Given the description of an element on the screen output the (x, y) to click on. 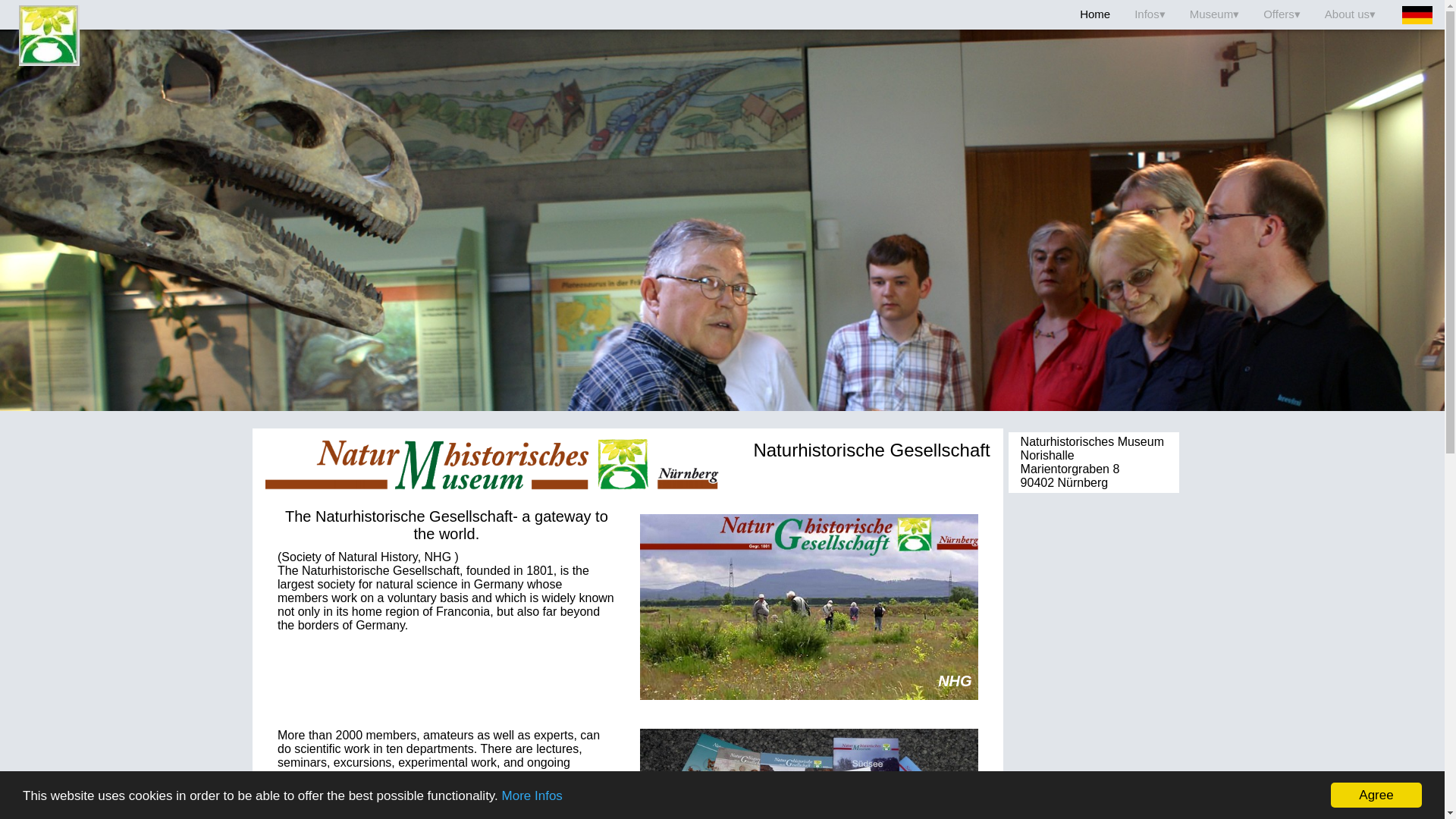
Home (1094, 14)
